Given the description of an element on the screen output the (x, y) to click on. 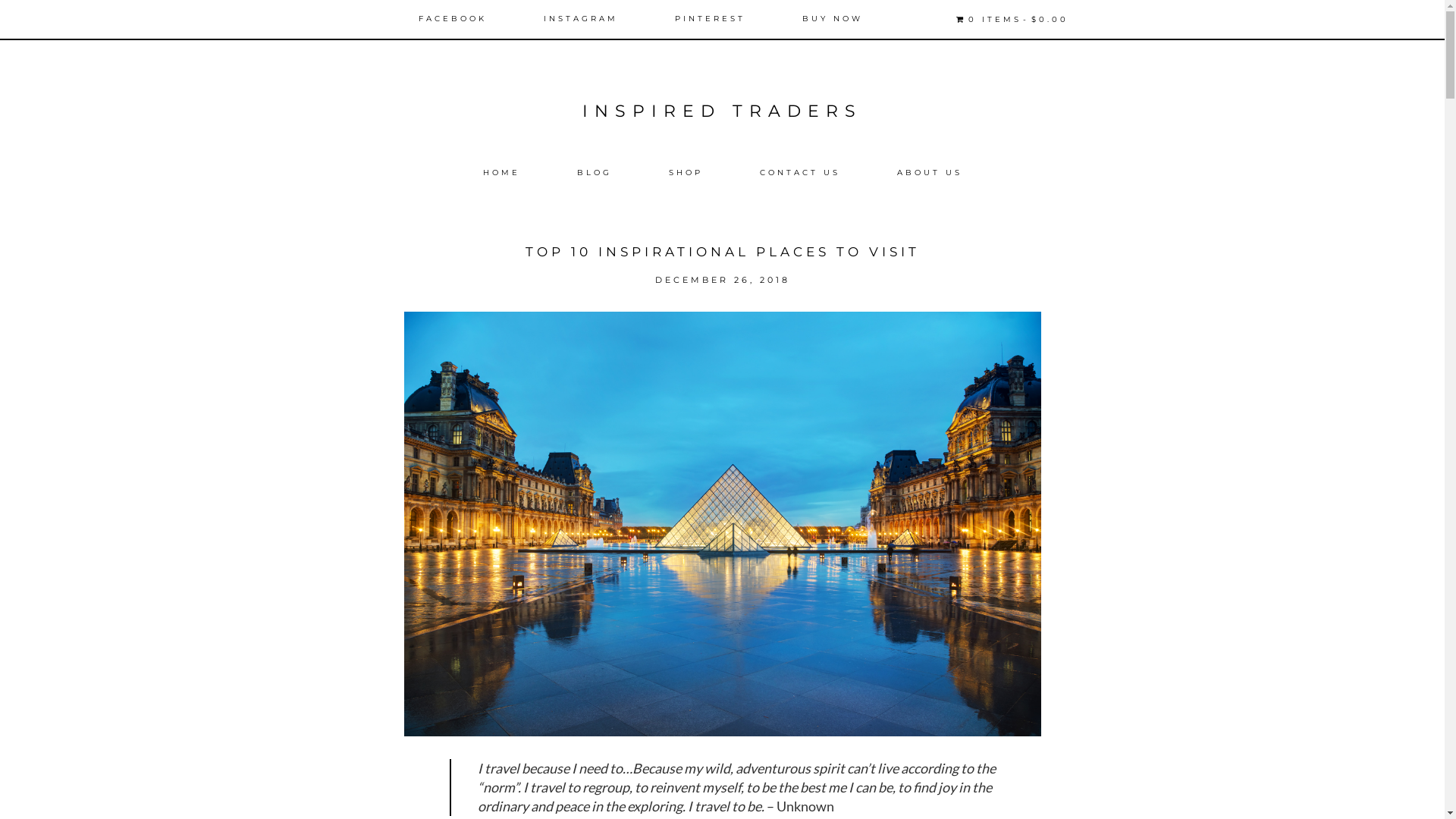
CONTACT US Element type: text (799, 172)
FACEBOOK Element type: text (452, 18)
INSPIRED TRADERS Element type: text (722, 110)
PINTEREST Element type: text (709, 18)
BLOG Element type: text (593, 172)
ABOUT US Element type: text (928, 172)
BUY NOW Element type: text (832, 18)
SHOP Element type: text (685, 172)
0 ITEMS$0.00 Element type: text (1012, 19)
HOME Element type: text (500, 172)
INSTAGRAM Element type: text (580, 18)
